Given the description of an element on the screen output the (x, y) to click on. 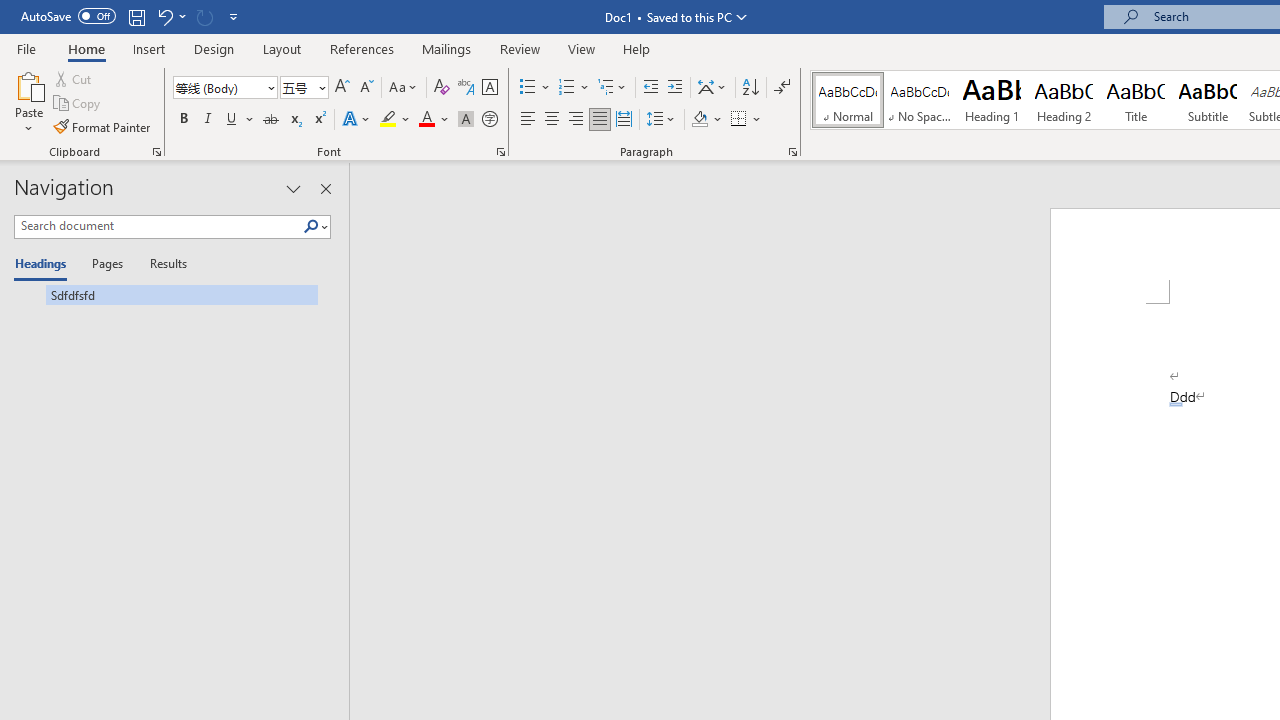
Text Highlight Color (395, 119)
Paragraph... (792, 151)
Action: Undo Auto Actions (1175, 403)
Align Left (527, 119)
Strikethrough (270, 119)
Headings (45, 264)
More Options (757, 119)
Character Shading (465, 119)
Shading (706, 119)
Borders (746, 119)
Undo AutoCorrect (164, 15)
Search (315, 227)
Results (161, 264)
Subscript (294, 119)
Heading 2 (1063, 100)
